Given the description of an element on the screen output the (x, y) to click on. 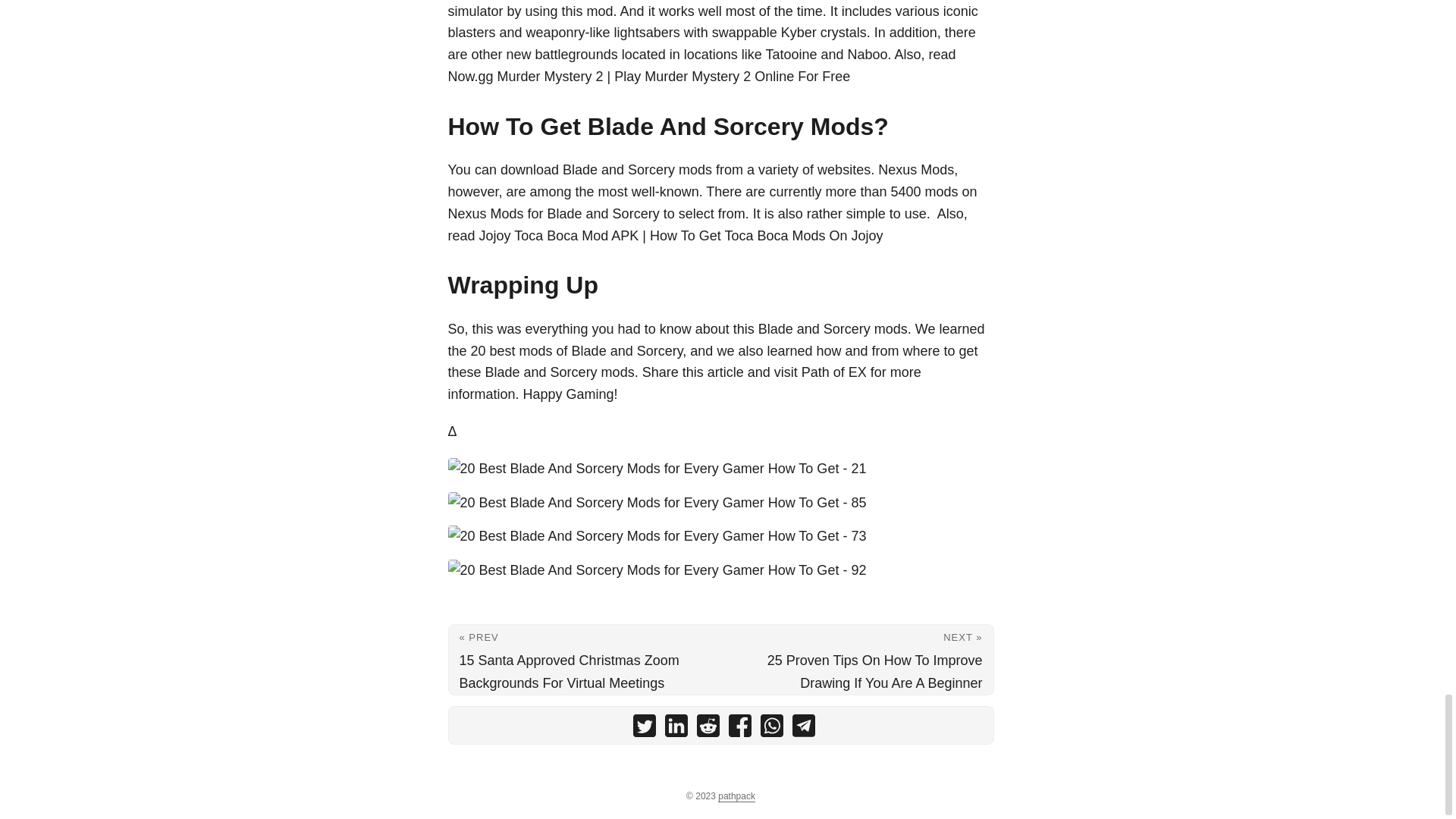
pathpack (736, 796)
